Given the description of an element on the screen output the (x, y) to click on. 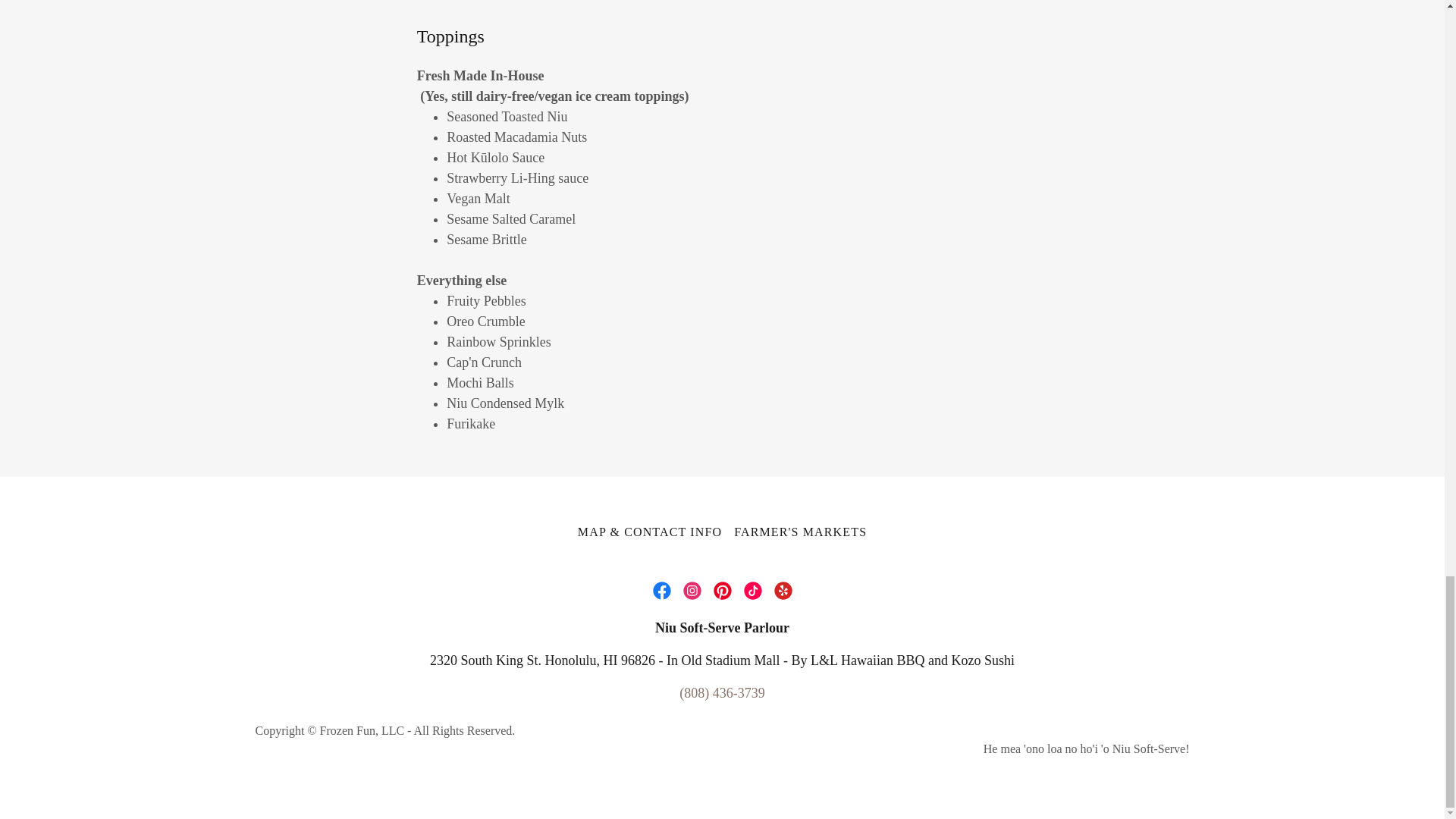
FARMER'S MARKETS (800, 532)
